Given the description of an element on the screen output the (x, y) to click on. 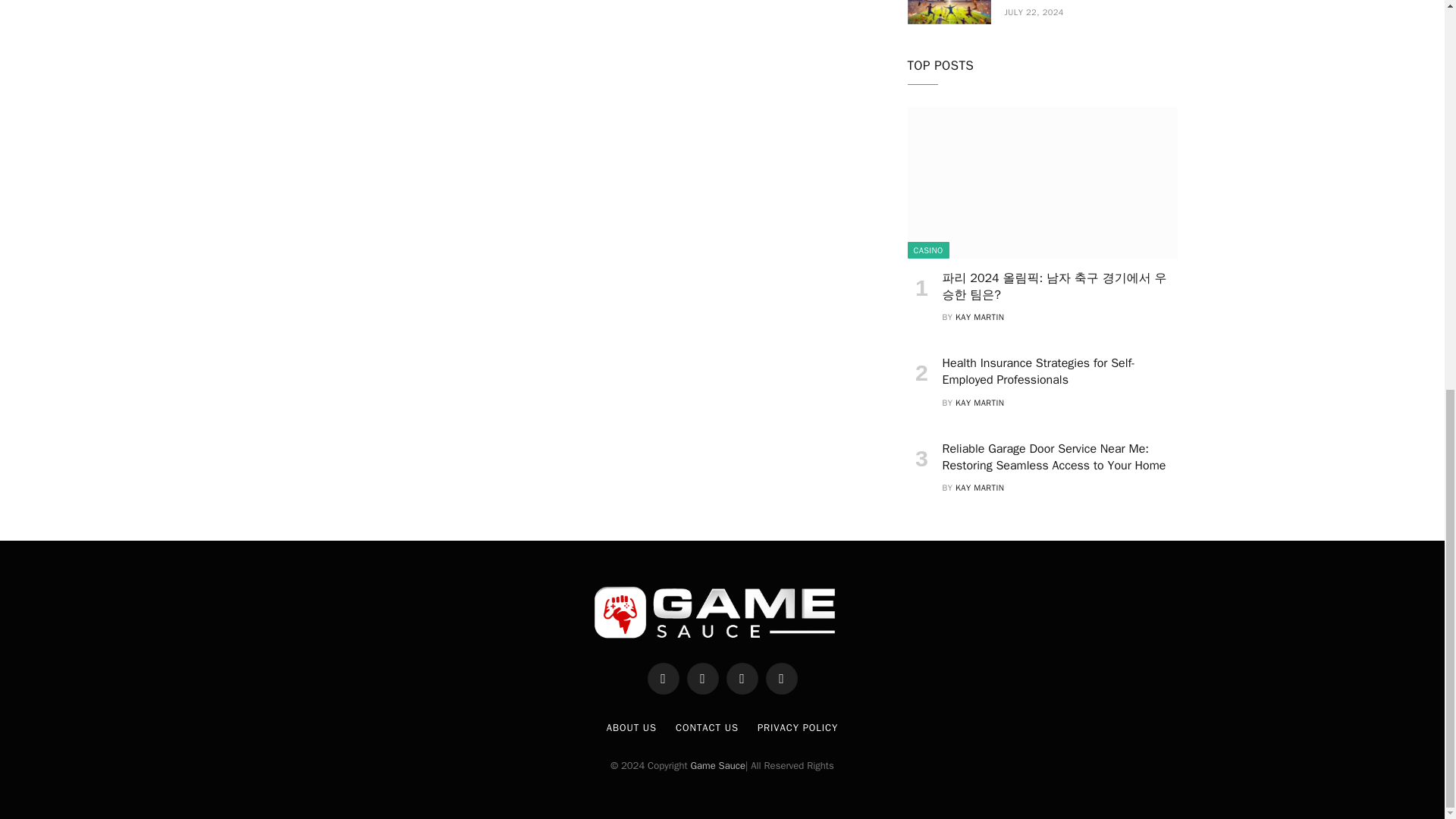
Posts by Kay Martin (979, 402)
Posts by Kay Martin (979, 317)
KAY MARTIN (979, 317)
CASINO (928, 249)
Health Insurance Strategies for Self-Employed Professionals (1059, 372)
Posts by Kay Martin (979, 487)
KAY MARTIN (979, 402)
